Given the description of an element on the screen output the (x, y) to click on. 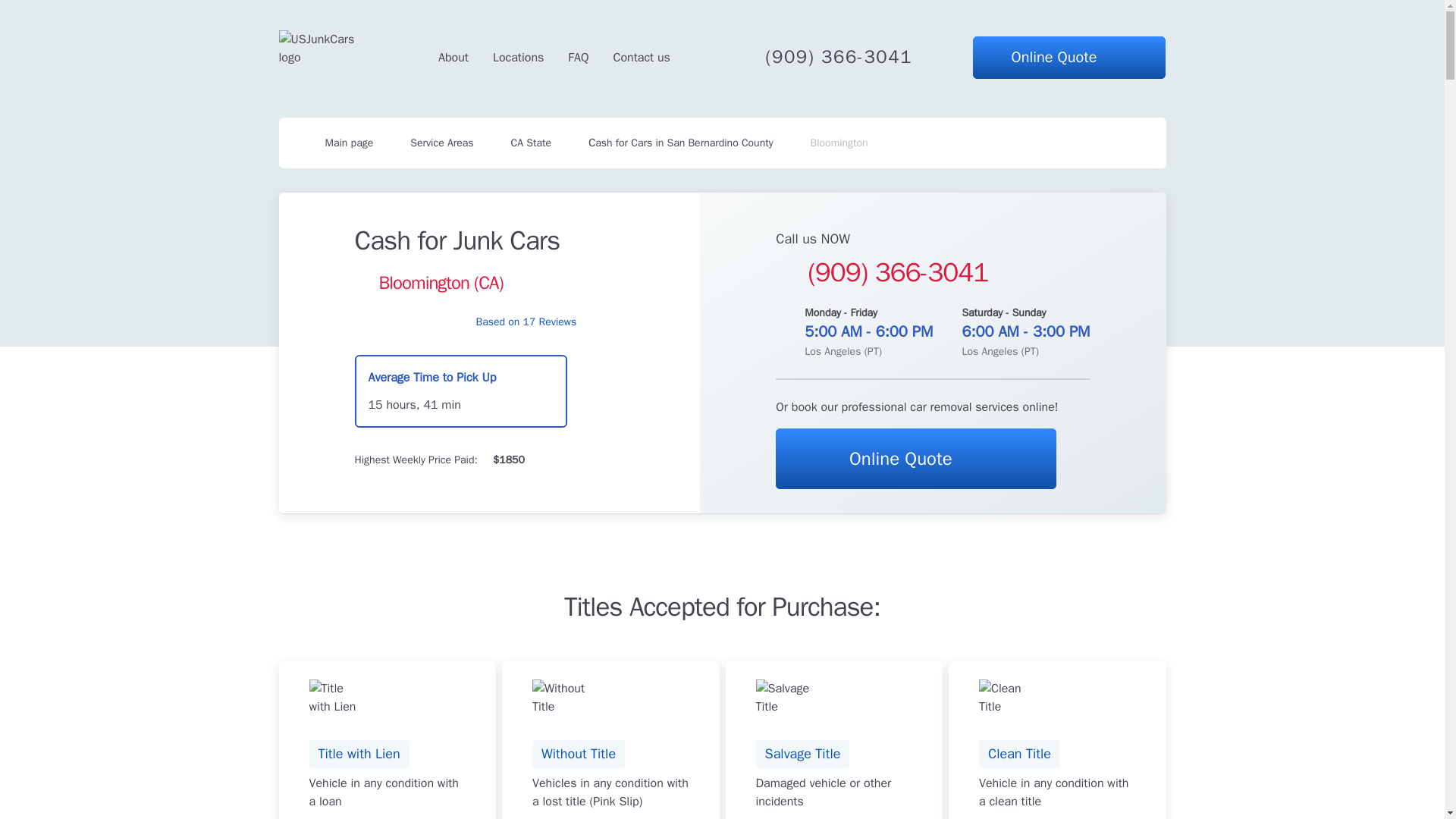
CA State (531, 142)
Contact us (387, 739)
Online Quote (640, 57)
Main page (916, 458)
About (338, 142)
Locations (453, 57)
Online Quote (518, 57)
Service Areas (1069, 57)
FAQ (441, 142)
Call us (577, 57)
